Given the description of an element on the screen output the (x, y) to click on. 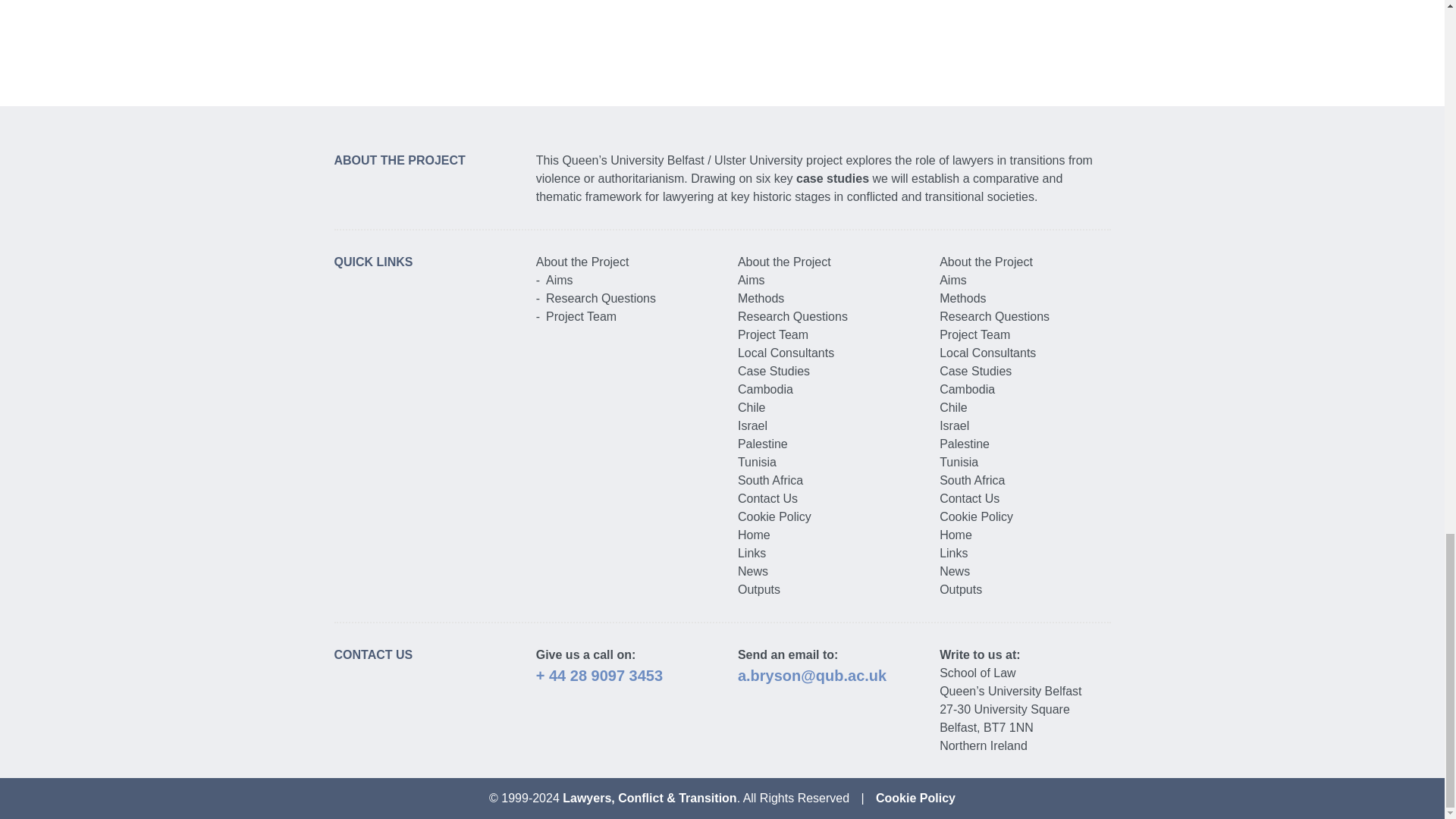
Email our office (812, 675)
Palestine (762, 443)
About the Project (581, 261)
About the Project (784, 261)
Tunisia (757, 461)
Cambodia (765, 389)
Case Studies (773, 370)
Project Team (773, 334)
Methods (761, 297)
Research Questions (601, 297)
